Given the description of an element on the screen output the (x, y) to click on. 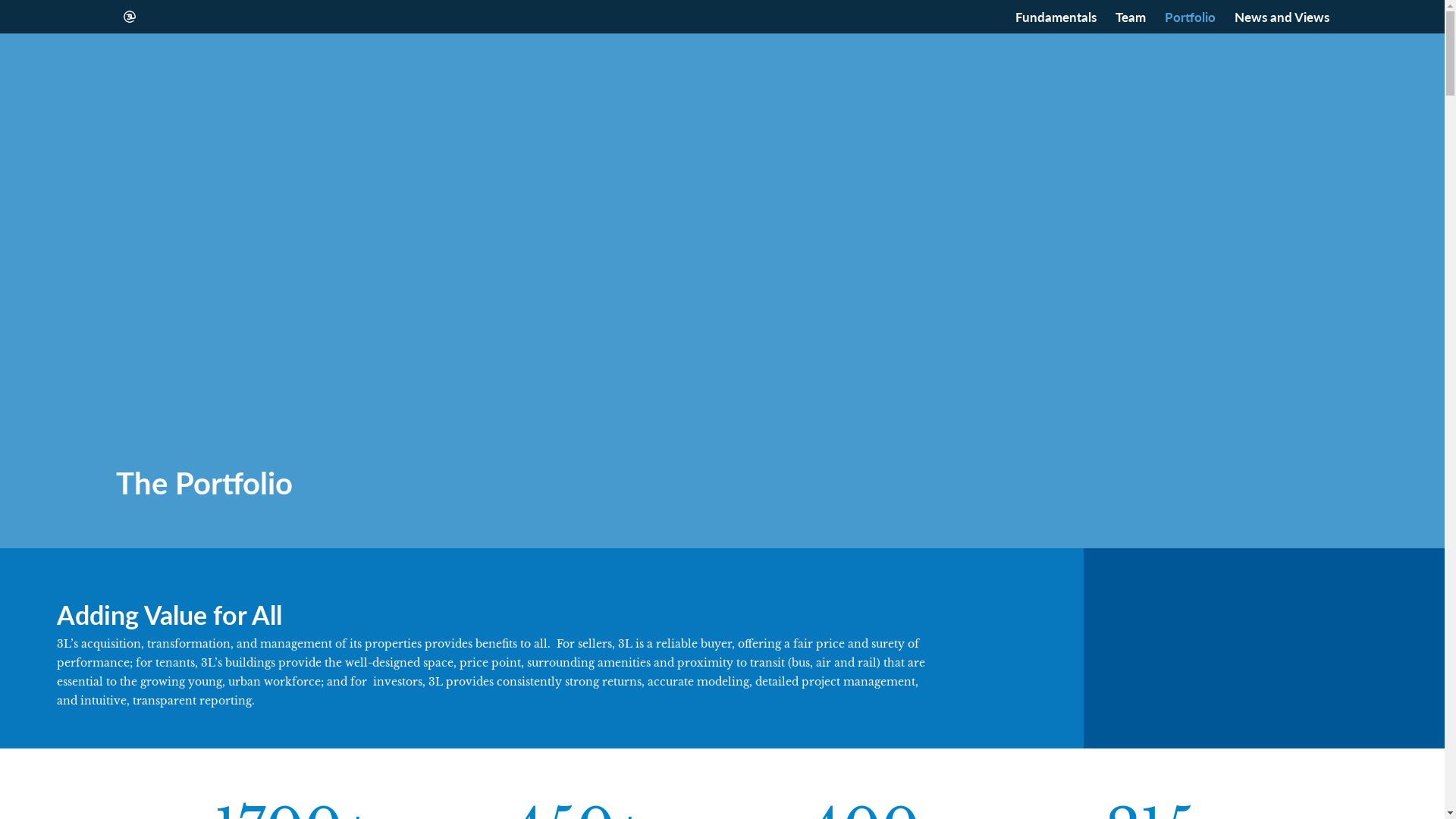
News and Views Element type: text (1281, 22)
Portfolio Element type: text (1189, 22)
Fundamentals Element type: text (1054, 22)
Team Element type: text (1129, 22)
